Given the description of an element on the screen output the (x, y) to click on. 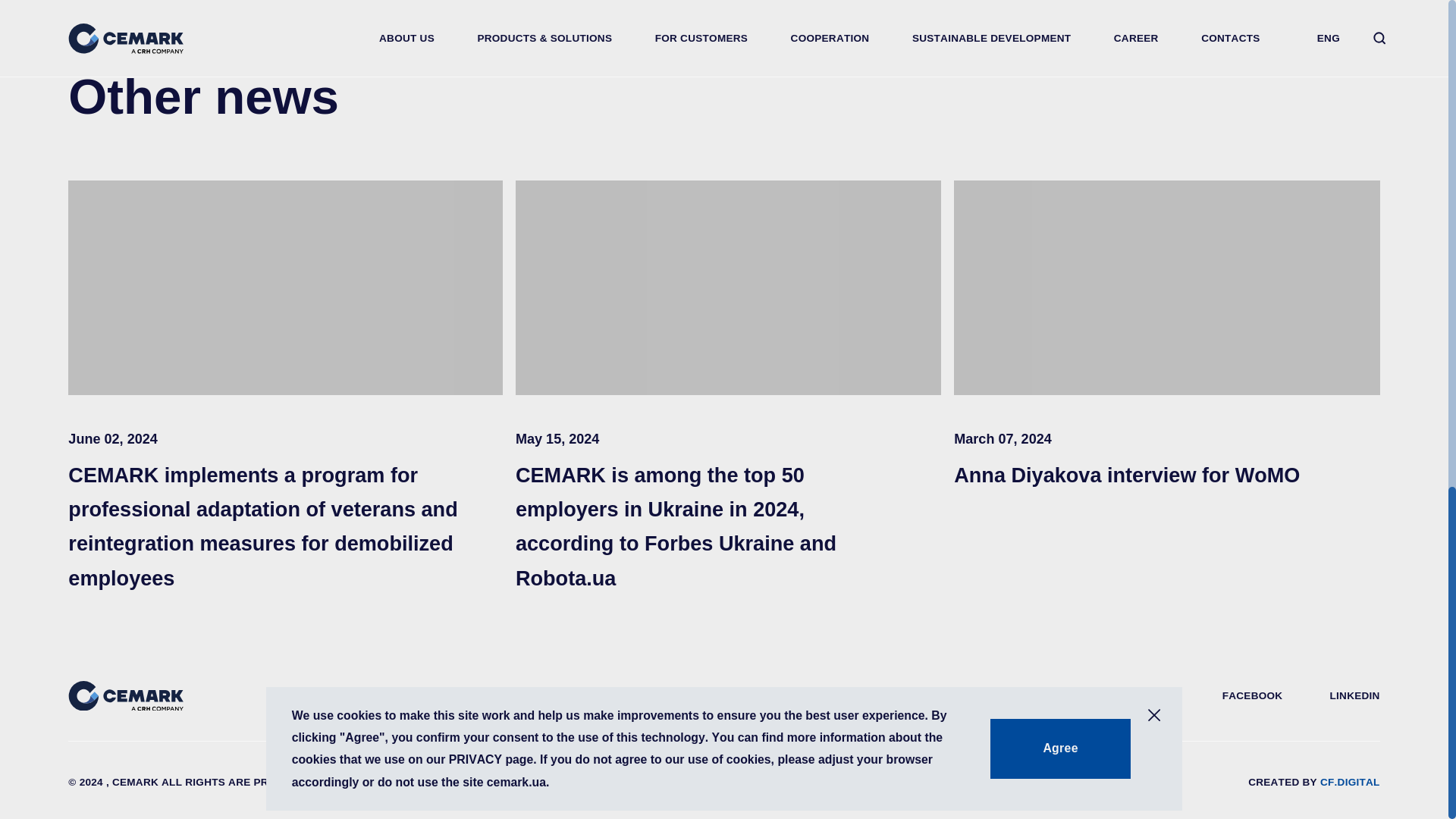
Anna Diyakova interview for WoMO (1165, 474)
INFORMATION FOR SHAREHOLDERS (652, 782)
CF.DIGITAL (1350, 781)
LINKEDIN (1355, 695)
PRIVACY (375, 782)
DISCLAIMER (473, 782)
FACEBOOK (1252, 695)
Cemark Anna Diyakova interview for WoMO (1165, 286)
